Given the description of an element on the screen output the (x, y) to click on. 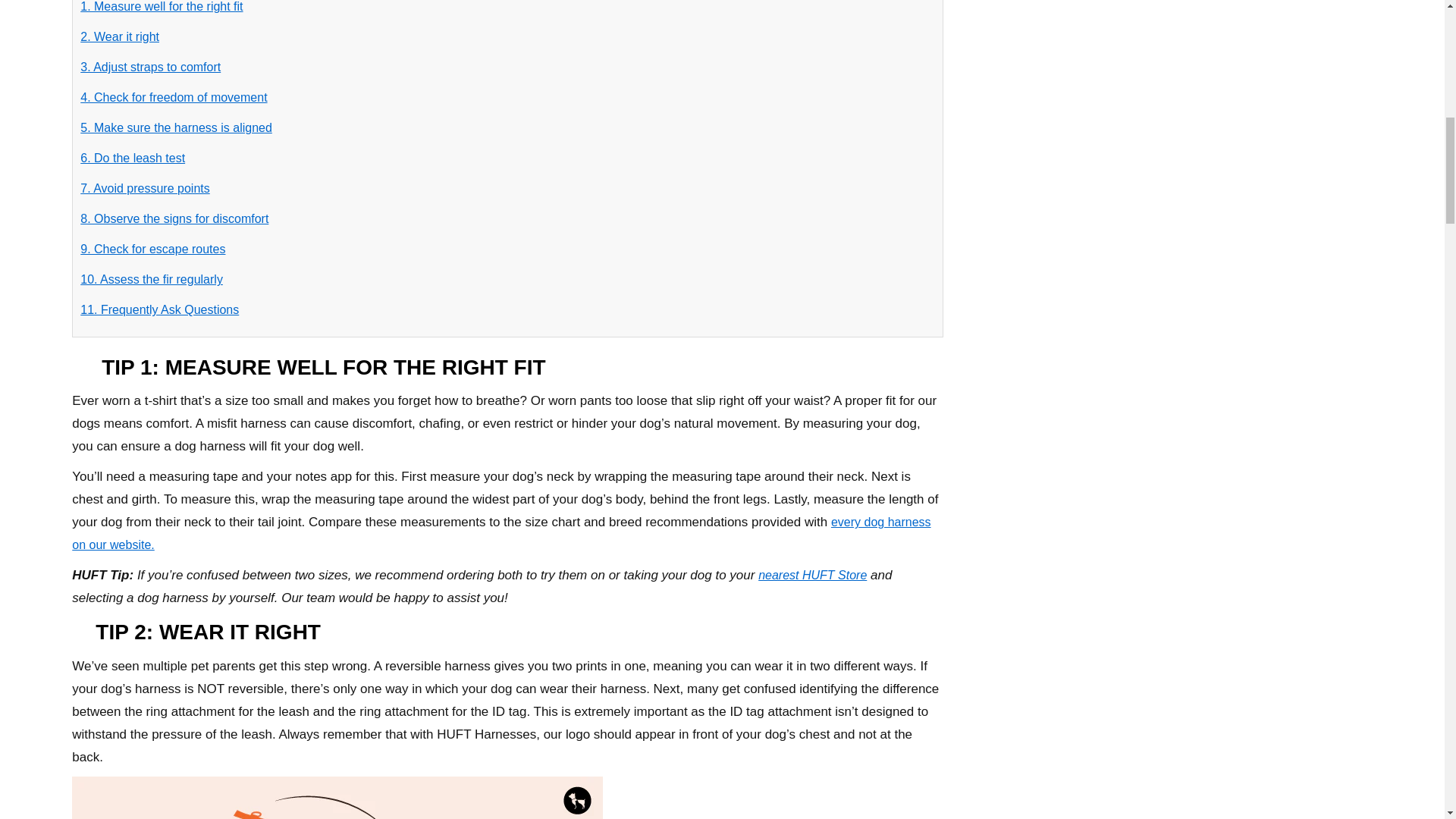
1. Measure well for the right fit (161, 6)
nearest HUFT Store (812, 574)
4. Check for freedom of movement (173, 97)
every dog harness on our website. (500, 533)
3. Adjust straps to comfort (150, 66)
6. Do the leash test (132, 157)
7. Avoid pressure points (144, 187)
2. Wear it right (119, 36)
9. Check for escape routes (152, 248)
11. Frequently Ask Questions (159, 309)
5. Make sure the harness is aligned (176, 127)
8. Observe the signs for discomfort (173, 218)
10. Assess the fir regularly (151, 278)
